Given the description of an element on the screen output the (x, y) to click on. 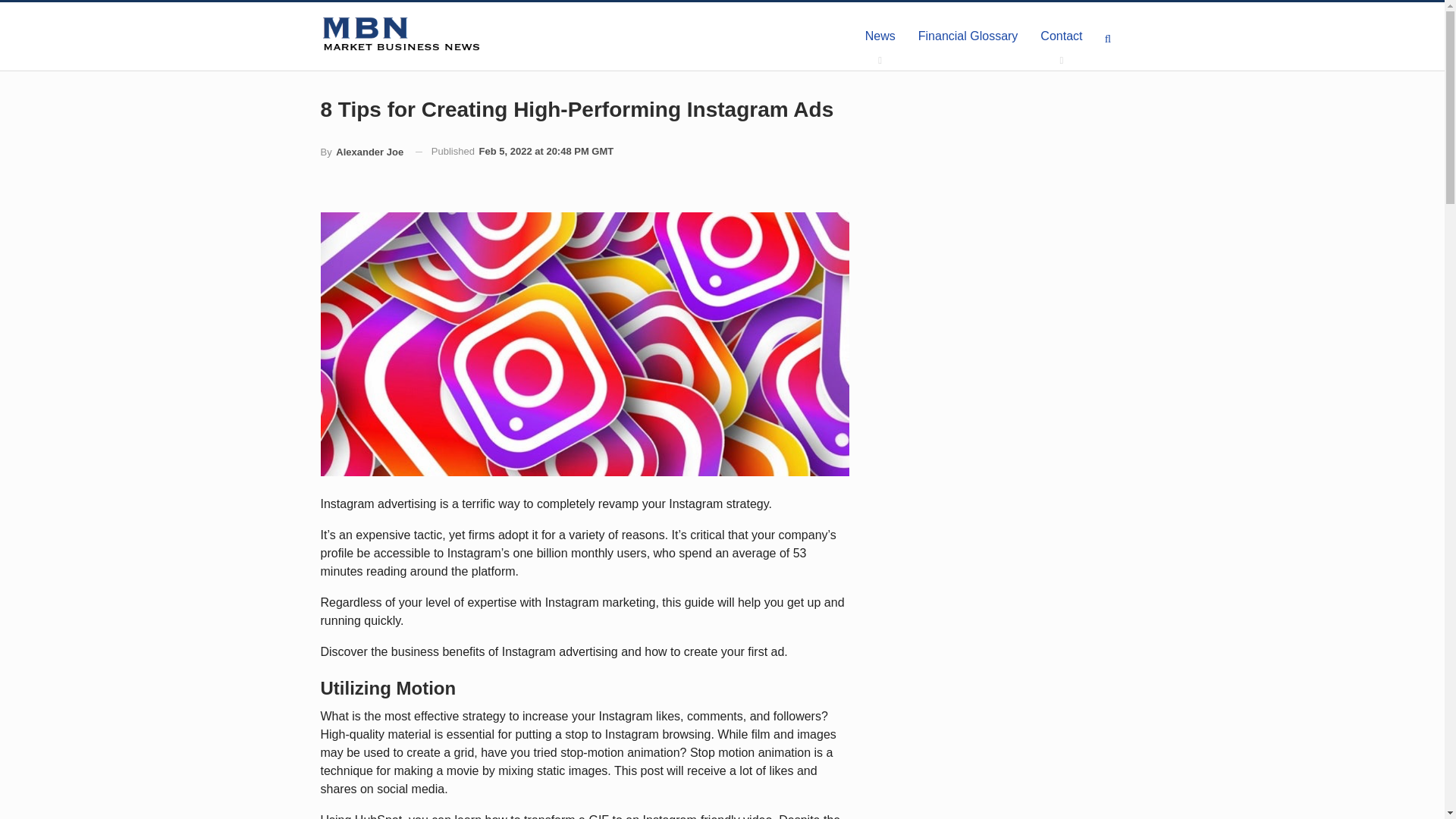
Contact (1061, 36)
Browse Author Articles (361, 152)
Financial Glossary (968, 36)
By Alexander Joe (361, 152)
